Given the description of an element on the screen output the (x, y) to click on. 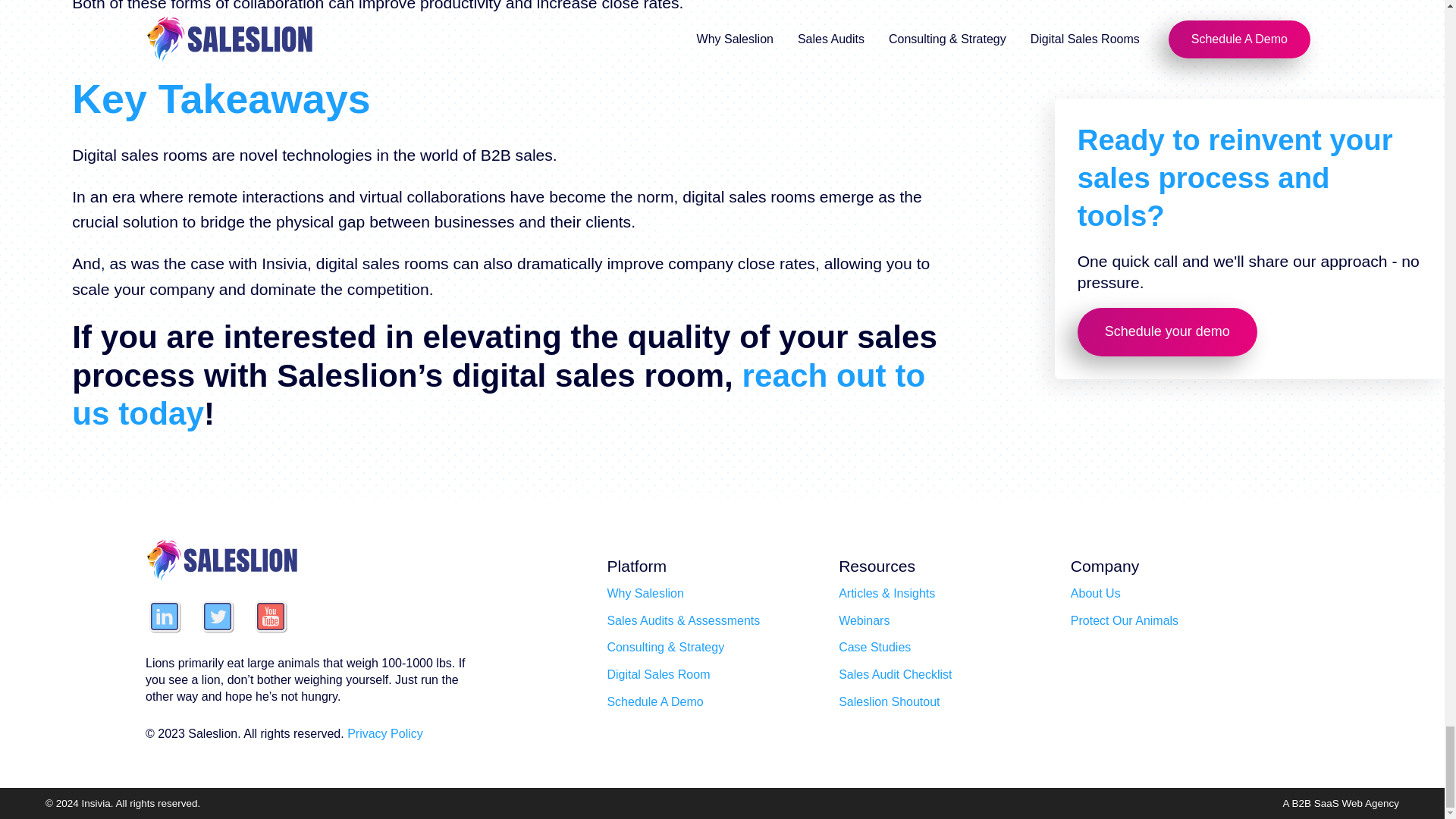
Case Studies (874, 647)
A B2B SaaS Web Agency (1340, 803)
Resources (876, 566)
Digital Sales Room (658, 674)
reach out to us today (497, 395)
About Us (1095, 593)
Why Saleslion (644, 593)
Privacy Policy (385, 734)
Company (1104, 566)
Sales Audit Checklist (895, 674)
